Given the description of an element on the screen output the (x, y) to click on. 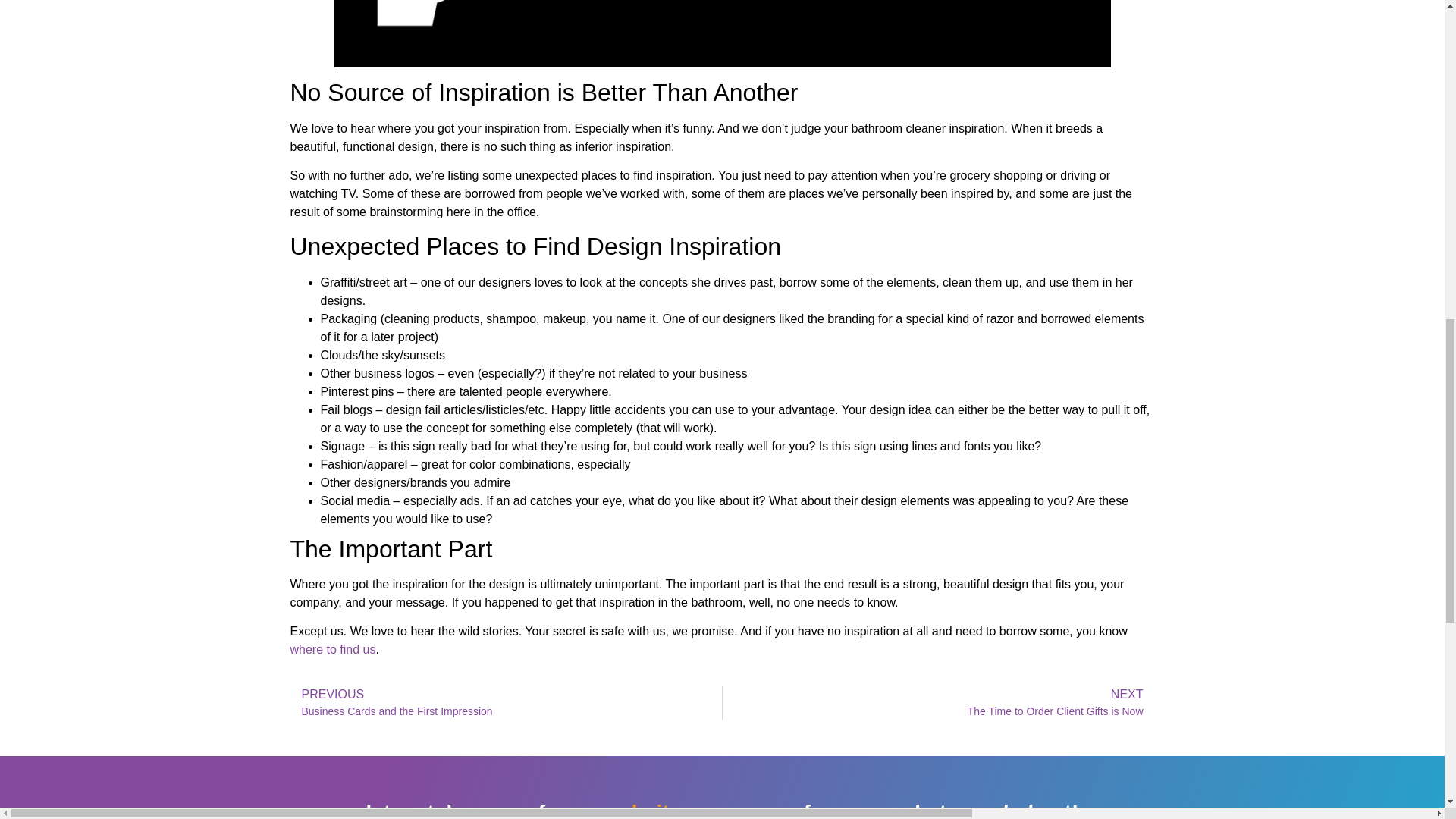
where to find us (332, 649)
